Given the description of an element on the screen output the (x, y) to click on. 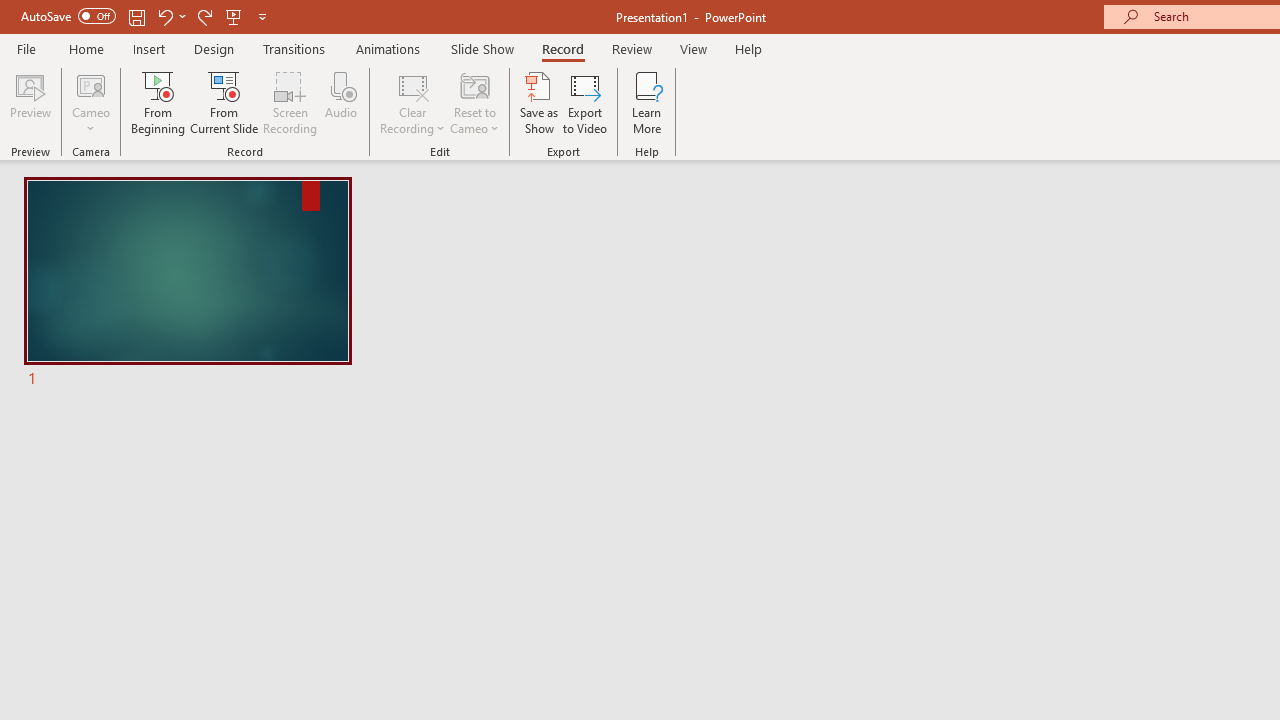
Learn More (646, 102)
